Given the description of an element on the screen output the (x, y) to click on. 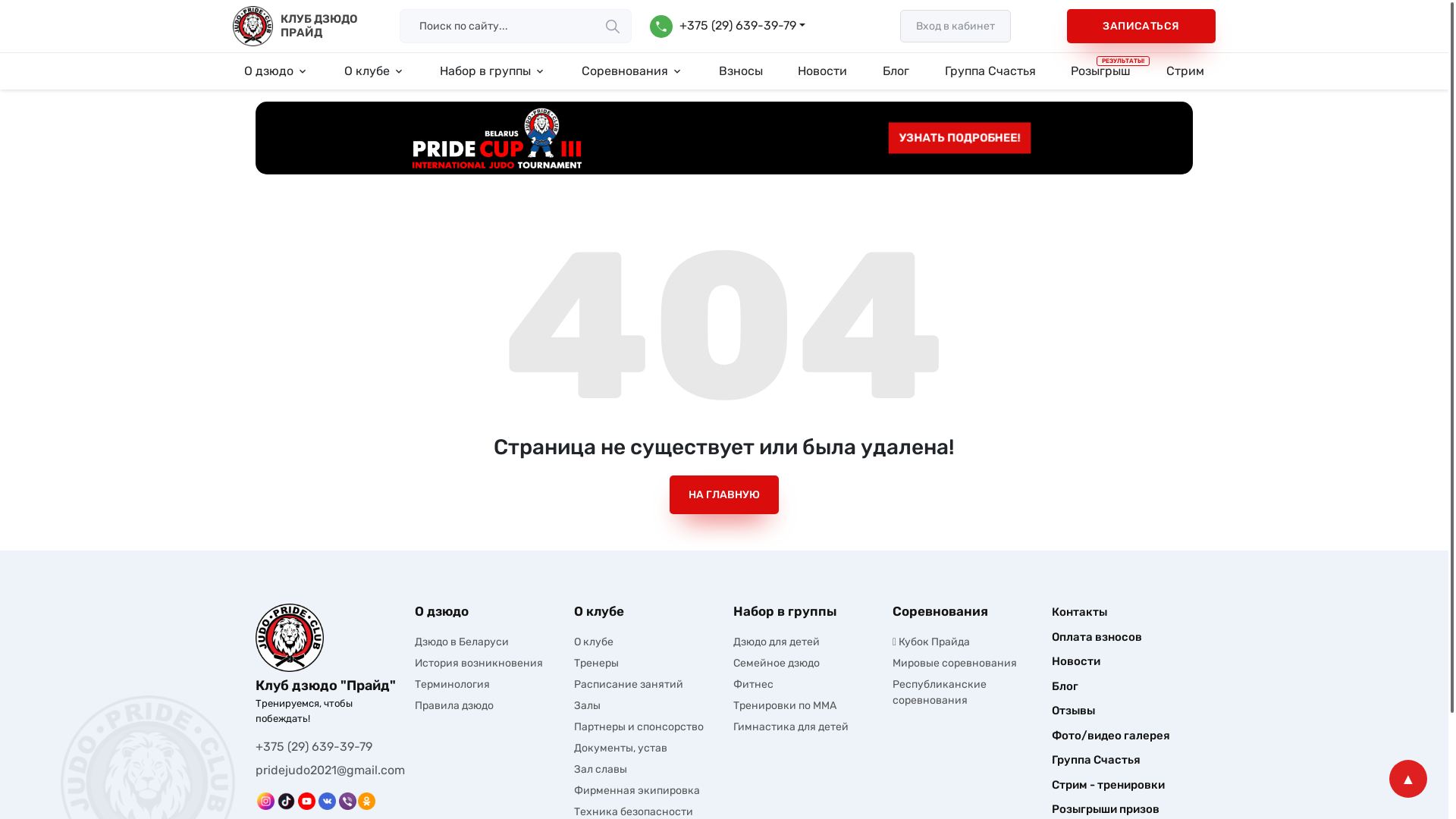
call +375 (29) 639-39-79 Element type: text (727, 26)
Viber Element type: hover (347, 800)
Instagram Element type: hover (265, 800)
VK Element type: hover (326, 800)
PRIDE Element type: hover (252, 26)
PRIDE Element type: hover (289, 637)
YouTube Element type: hover (306, 800)
pridejudo2021@gmail.com Element type: text (329, 770)
TikTok Element type: hover (285, 800)
VK Element type: hover (326, 800)
Instagram Element type: hover (265, 800)
+375 (29) 639-39-79 Element type: text (313, 746)
TikTok Element type: hover (285, 800)
YouTube Element type: hover (306, 800)
Viber Element type: hover (347, 800)
